Given the description of an element on the screen output the (x, y) to click on. 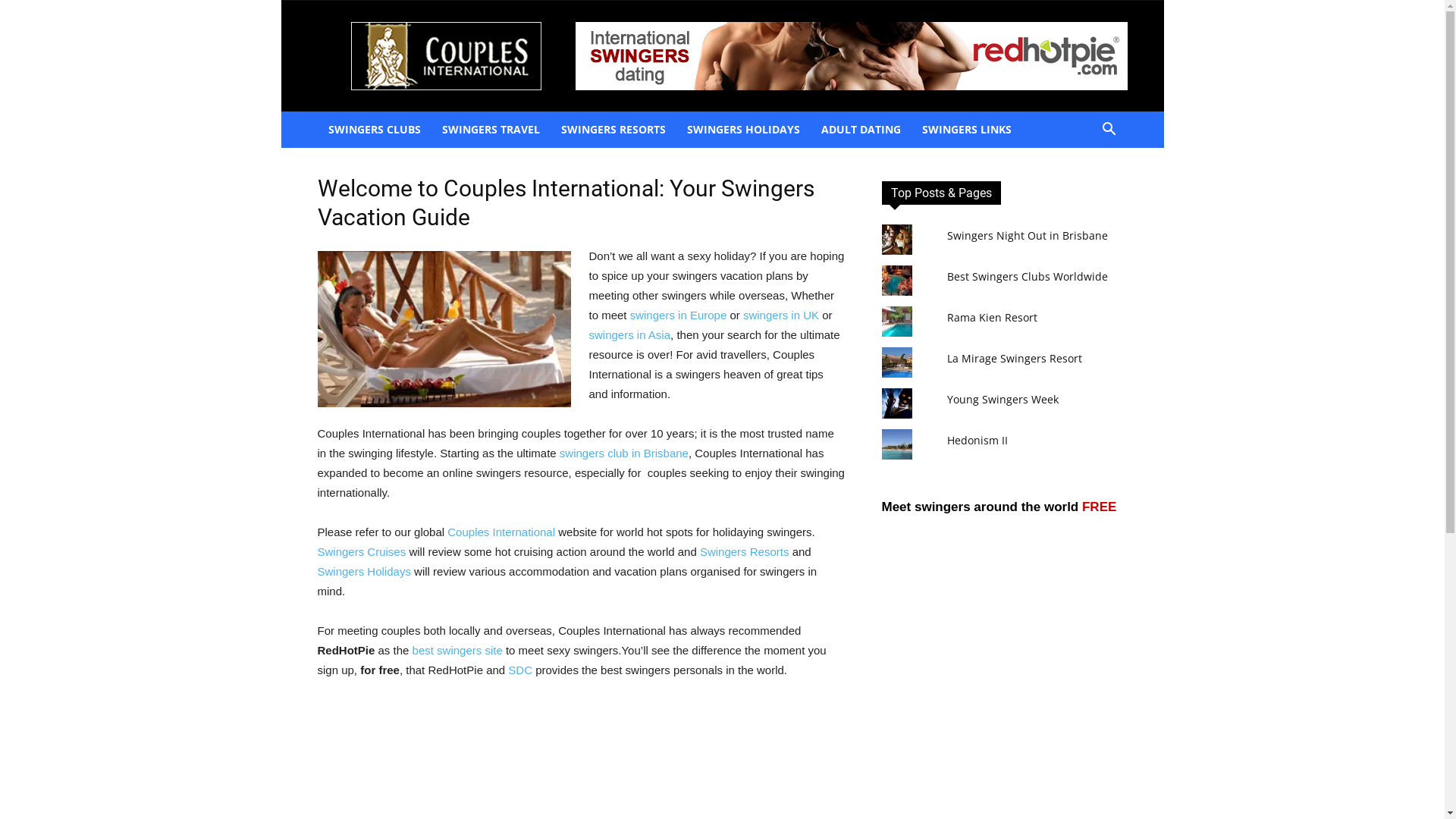
swingers club in Brisbane Element type: text (623, 452)
SWINGERS HOLIDAYS Element type: text (743, 129)
SWINGERS LINKS Element type: text (966, 129)
Swingers Resorts Element type: text (744, 551)
swingers in Asia Element type: text (629, 334)
Young Swingers Week Element type: text (1002, 399)
Search Element type: text (1085, 190)
Swingers Cruises Element type: text (360, 551)
SWINGERS TRAVEL Element type: text (489, 129)
La Mirage Swingers Resort Element type: text (1014, 358)
Hedonism II Element type: text (977, 440)
SWINGERS RESORTS Element type: text (613, 129)
Rama Kien Resort Element type: text (992, 317)
Swingers Night Out in Brisbane Element type: text (1027, 235)
ADULT DATING Element type: text (859, 129)
swingers in UK Element type: text (781, 314)
Swingers Holidays Element type: text (363, 570)
SWINGERS CLUBS Element type: text (373, 129)
swingers in Europe Element type: text (680, 314)
SDC Element type: text (520, 669)
Couples International Element type: text (502, 531)
best swingers site Element type: text (457, 649)
Best Swingers Clubs Worldwide Element type: text (1027, 276)
